Given the description of an element on the screen output the (x, y) to click on. 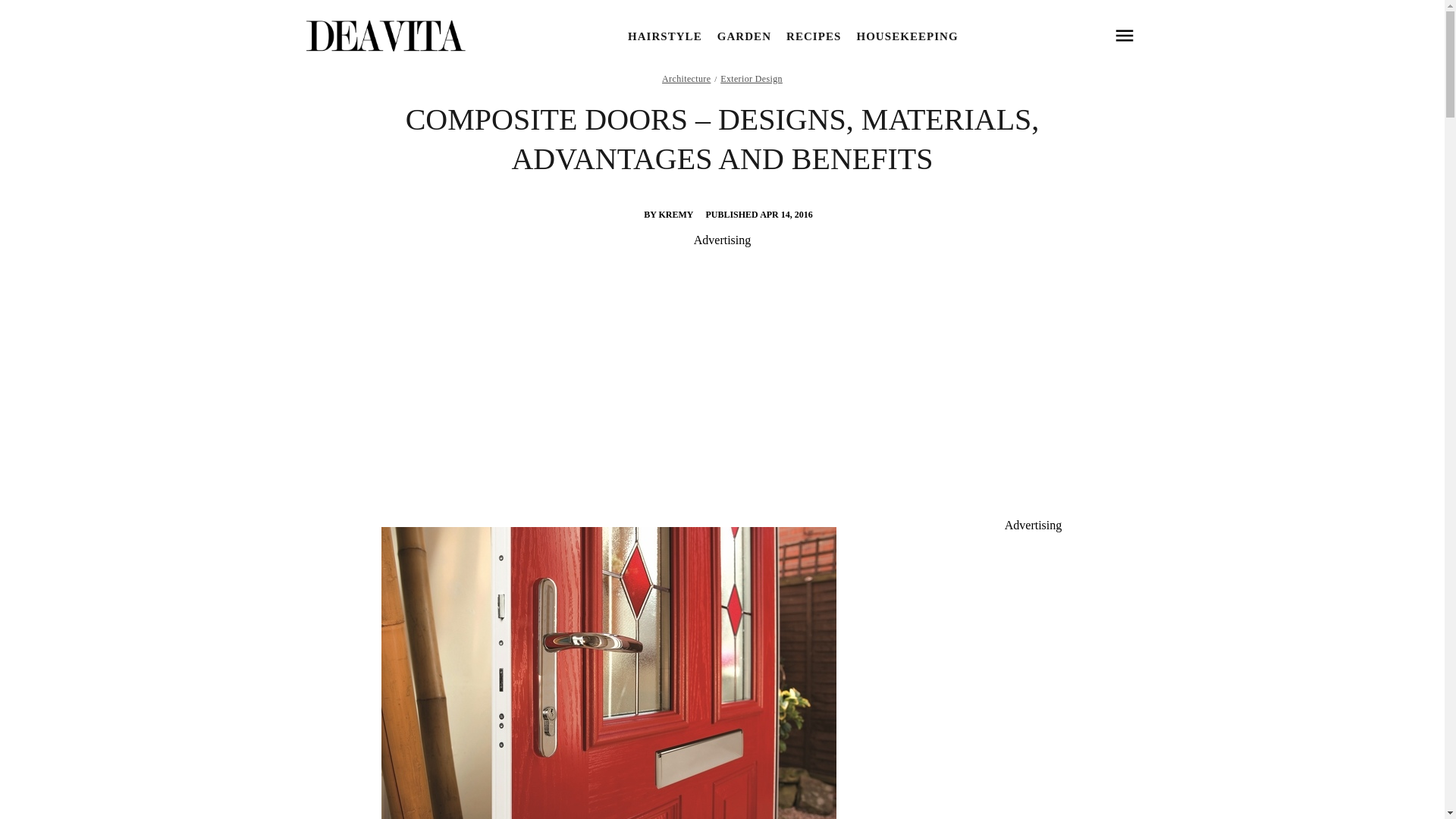
GARDEN (744, 36)
HOUSEKEEPING (907, 36)
HAIRSTYLE (664, 36)
RECIPES (813, 36)
open menu (1124, 36)
Deavita (383, 36)
